Given the description of an element on the screen output the (x, y) to click on. 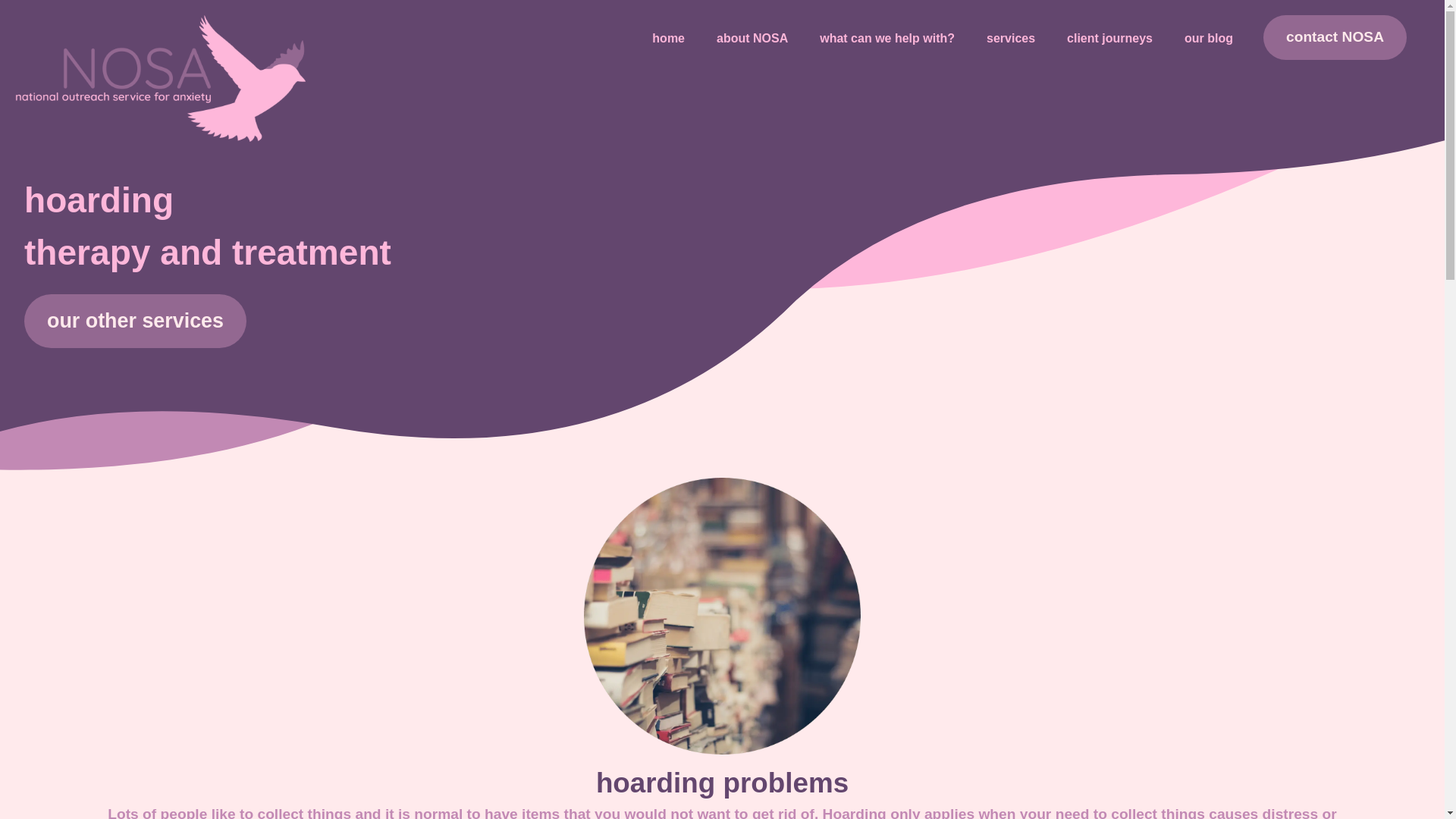
contact NOSA (1334, 37)
about NOSA (751, 38)
client journeys (1110, 38)
our blog (1201, 38)
services (1011, 38)
home (676, 38)
what can we help with? (887, 38)
our other services (135, 320)
